Given the description of an element on the screen output the (x, y) to click on. 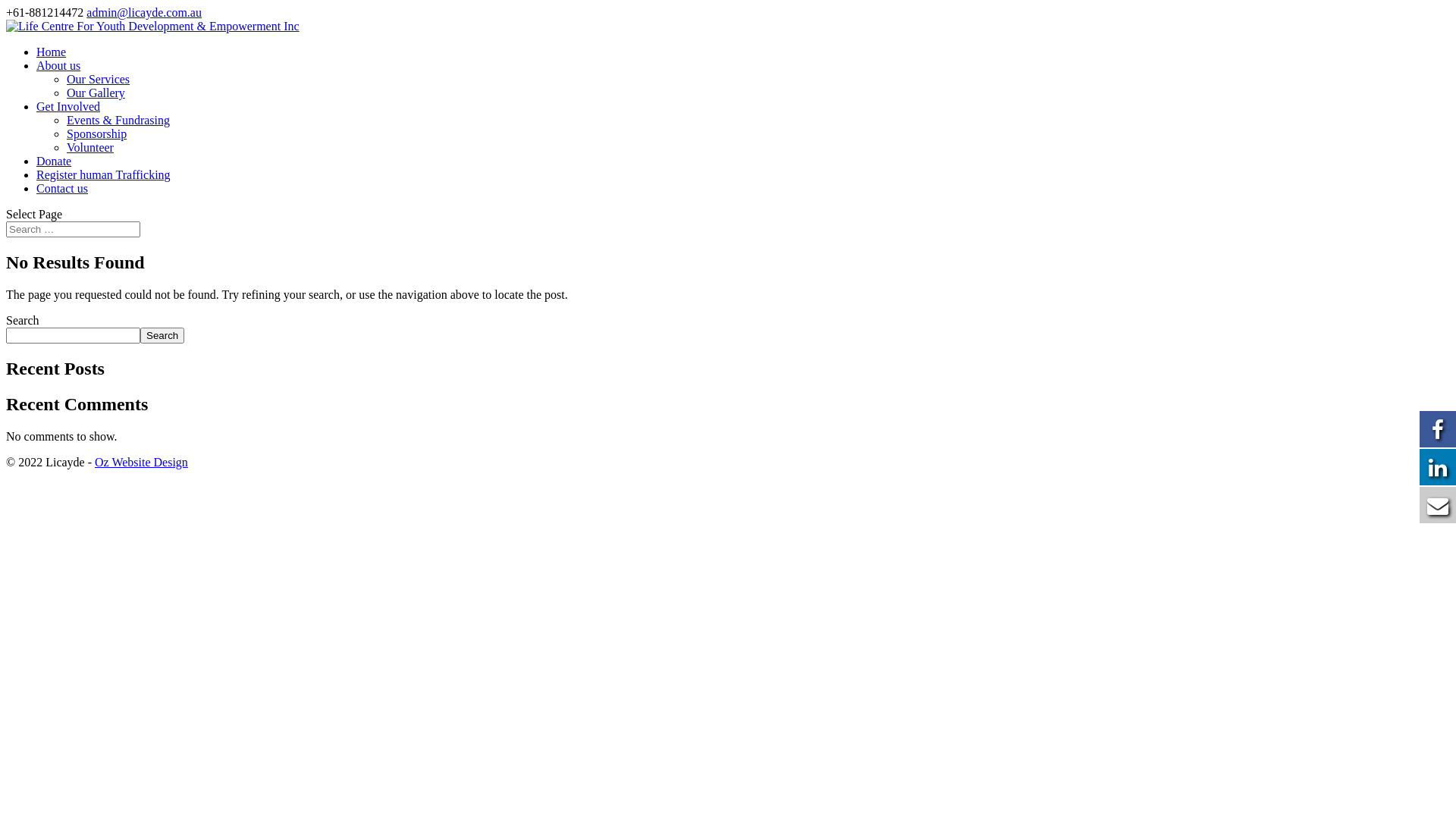
Get Involved Element type: text (68, 106)
About us Element type: text (58, 65)
Register human Trafficking Element type: text (103, 174)
admin@licayde.com.au Element type: text (143, 12)
Donate Element type: text (53, 160)
Volunteer Element type: text (89, 147)
Search Element type: text (162, 335)
Oz Website Design Element type: text (141, 461)
Home Element type: text (50, 51)
Our Services Element type: text (97, 78)
Search for: Element type: hover (73, 229)
Contact us Element type: text (61, 188)
Events & Fundrasing Element type: text (117, 119)
Sponsorship Element type: text (96, 133)
Our Gallery Element type: text (95, 92)
